Given the description of an element on the screen output the (x, y) to click on. 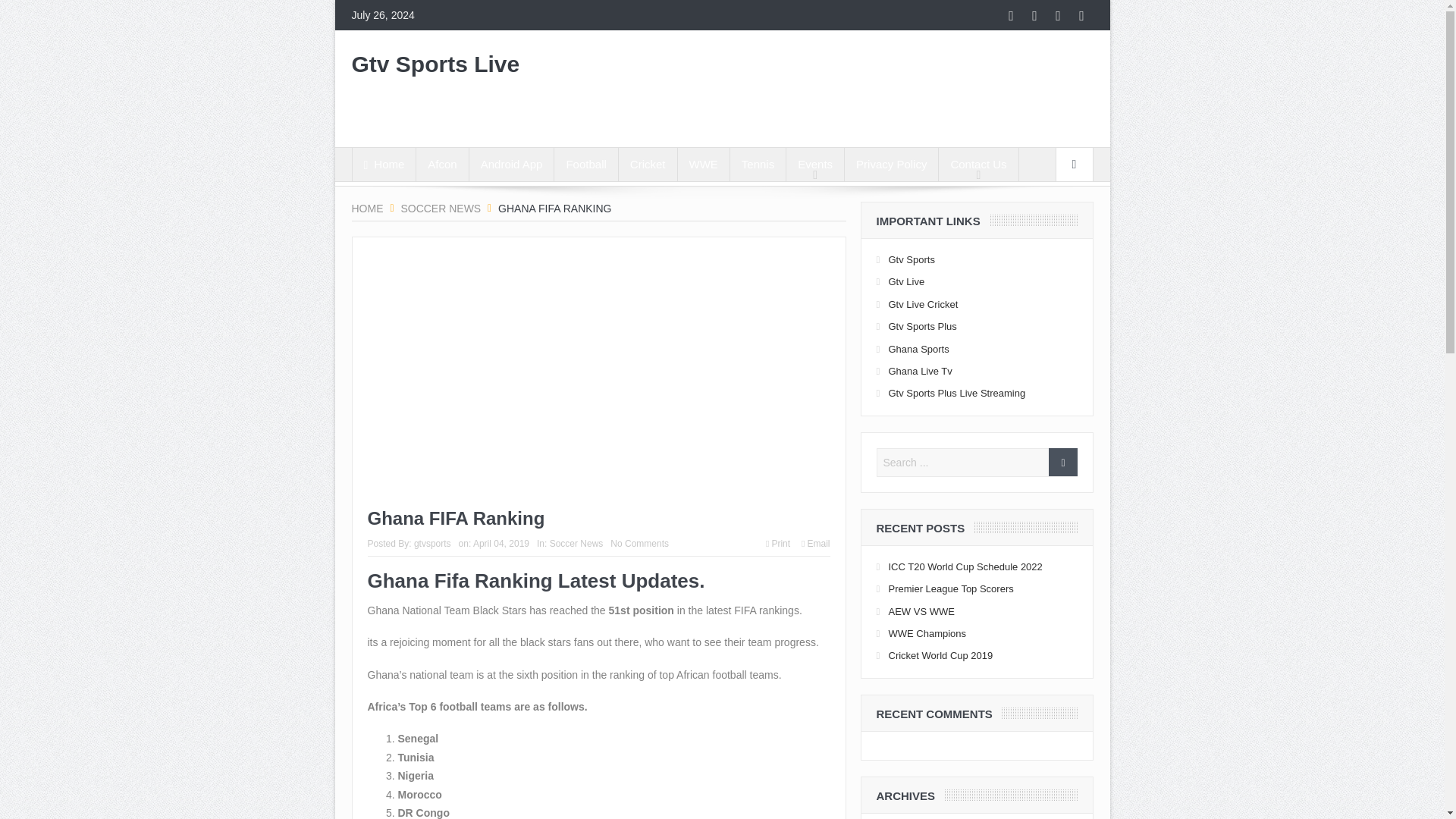
View all posts in Soccer News (577, 543)
Privacy Policy (890, 164)
Cricket (647, 164)
Tennis (758, 164)
Events (815, 164)
Print (777, 543)
WWE (703, 164)
gtvsports (432, 543)
Android App (511, 164)
Home (383, 164)
Email (815, 543)
SOCCER NEWS (440, 208)
Gtv Sports Live (435, 68)
Soccer News (577, 543)
Football (585, 164)
